Given the description of an element on the screen output the (x, y) to click on. 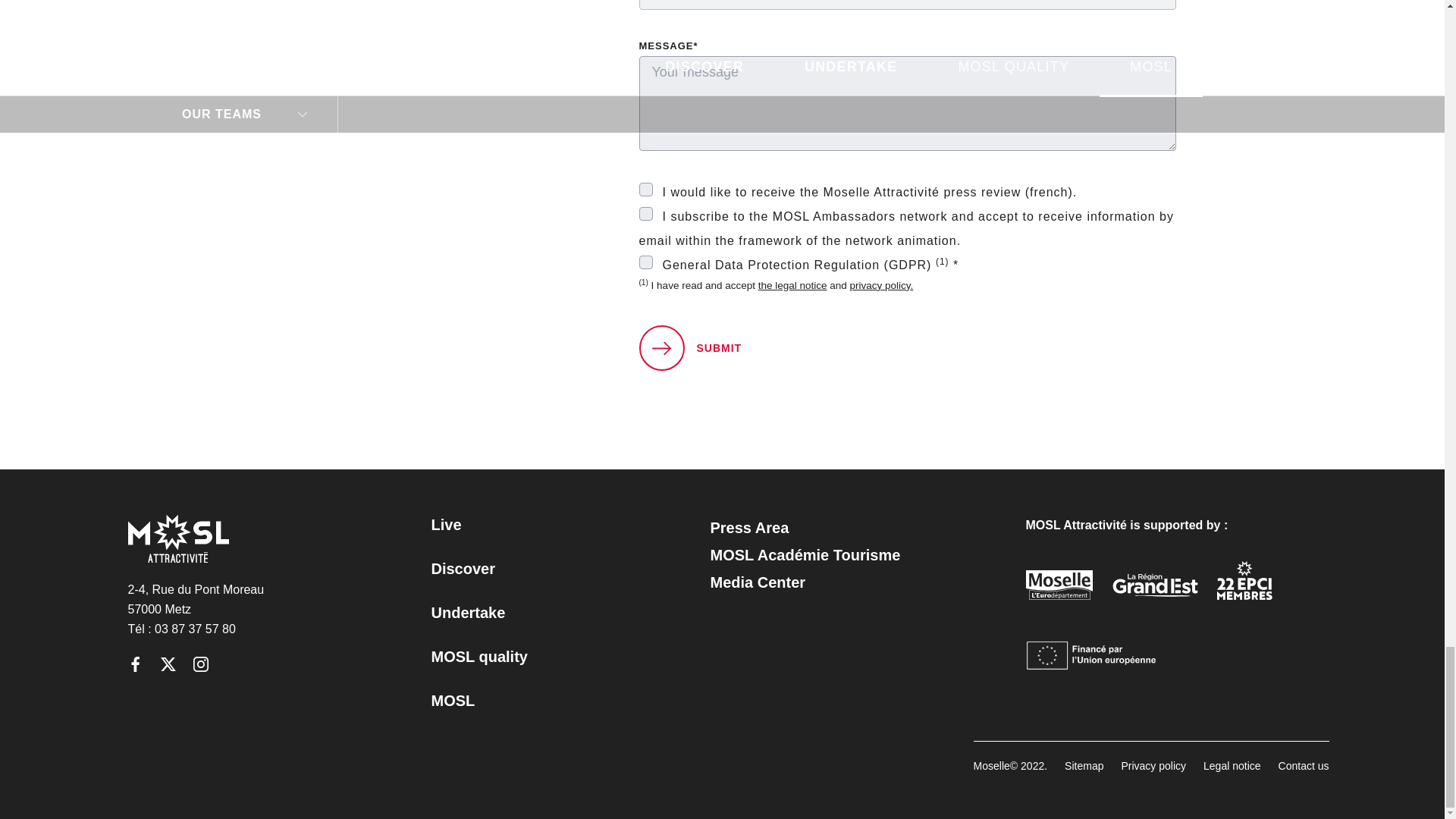
1 (645, 262)
1 (645, 189)
1 (645, 213)
